Given the description of an element on the screen output the (x, y) to click on. 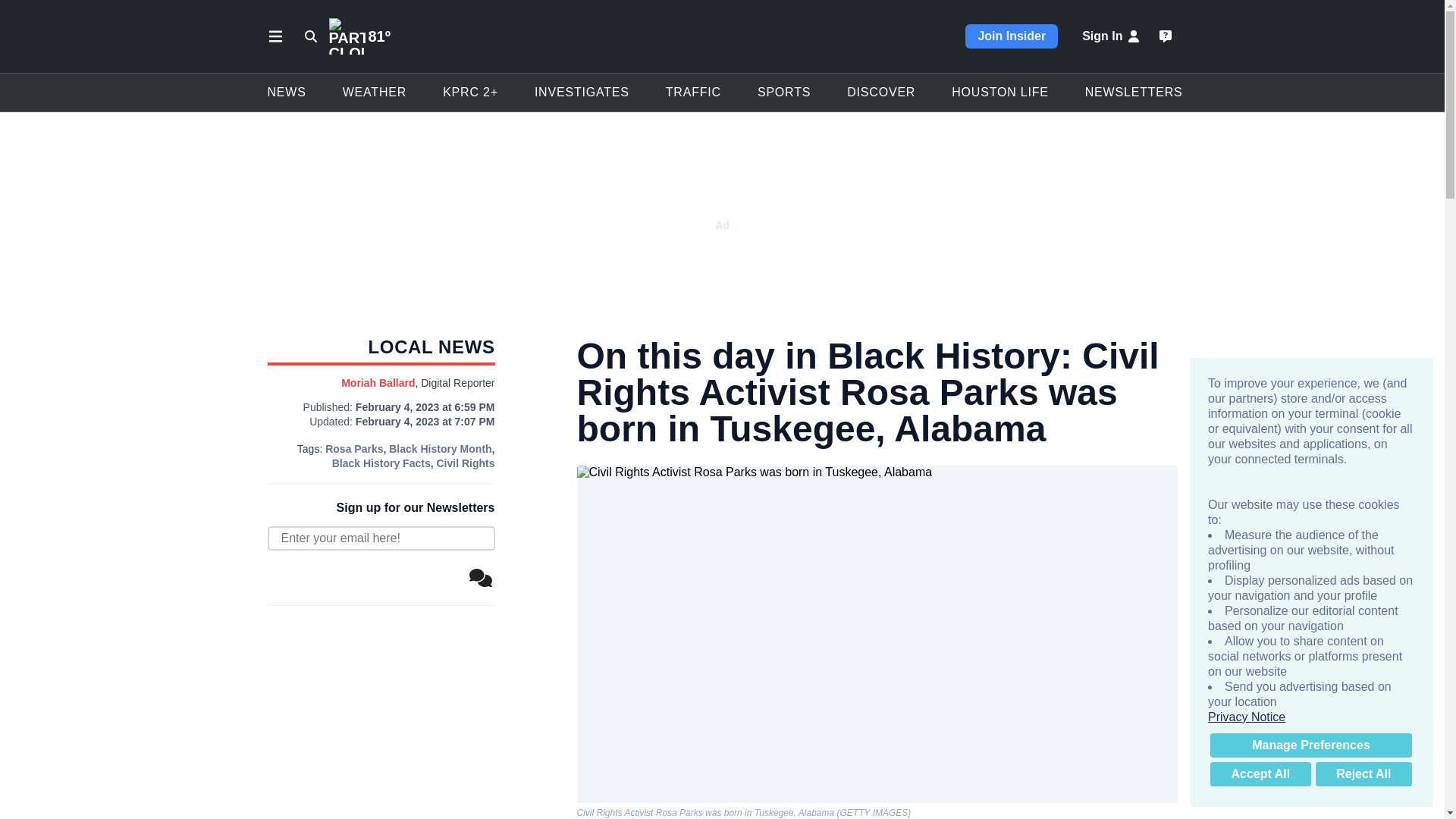
Manage Preferences (1310, 745)
Privacy Notice (1310, 717)
Reject All (1363, 774)
Sign In (1111, 36)
Accept All (1260, 774)
Join Insider (1011, 36)
